Given the description of an element on the screen output the (x, y) to click on. 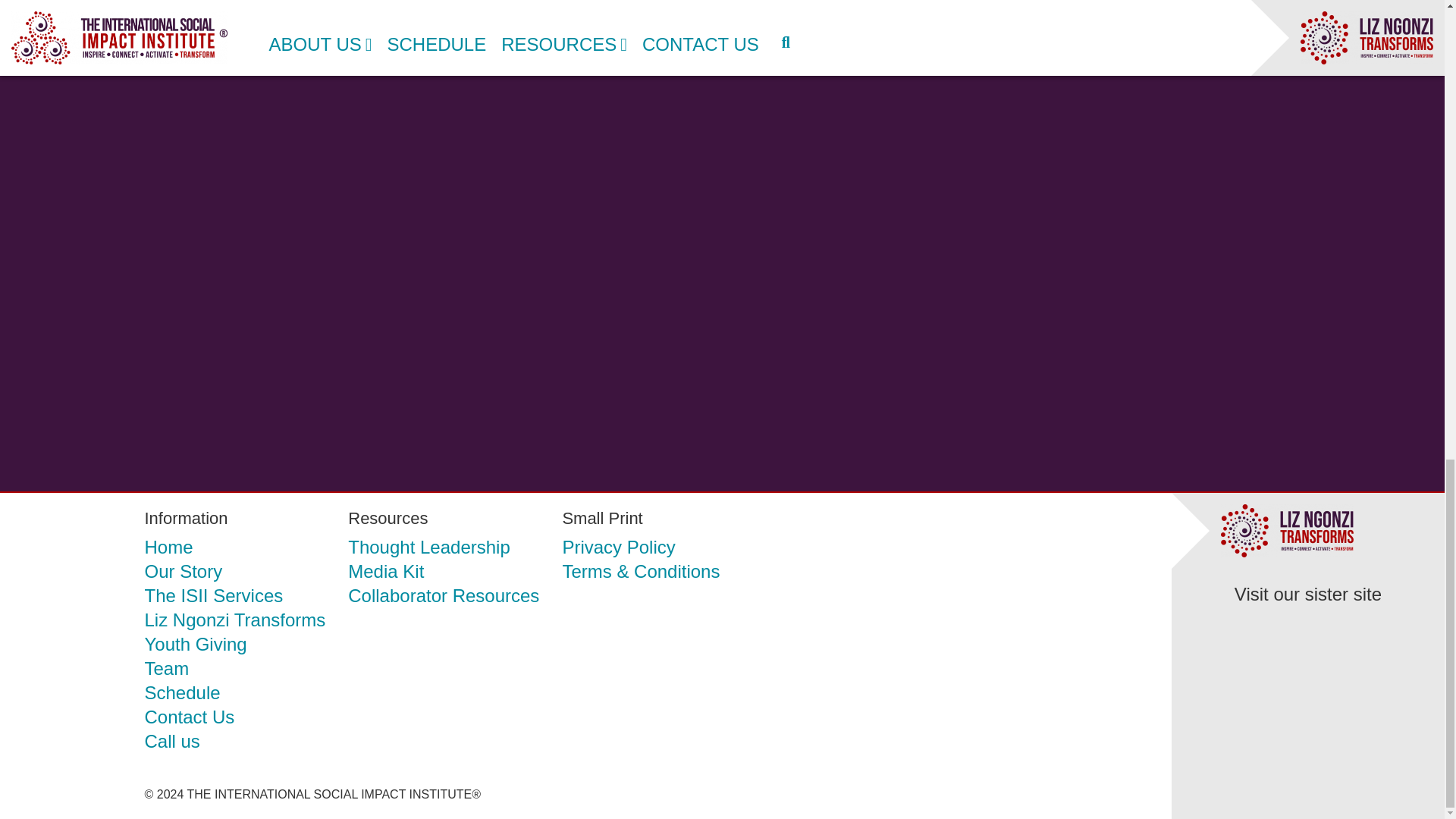
The ISII Services (213, 596)
Media Kit (385, 572)
Team (166, 669)
Contact Us (189, 717)
Thought Leadership (429, 547)
Call us (171, 741)
Home (168, 547)
Schedule (181, 693)
Liz Ngonzi Transforms (234, 620)
Collaborator Resources (442, 596)
Privacy Policy (618, 547)
Youth Giving (195, 644)
Our Story (183, 572)
